Given the description of an element on the screen output the (x, y) to click on. 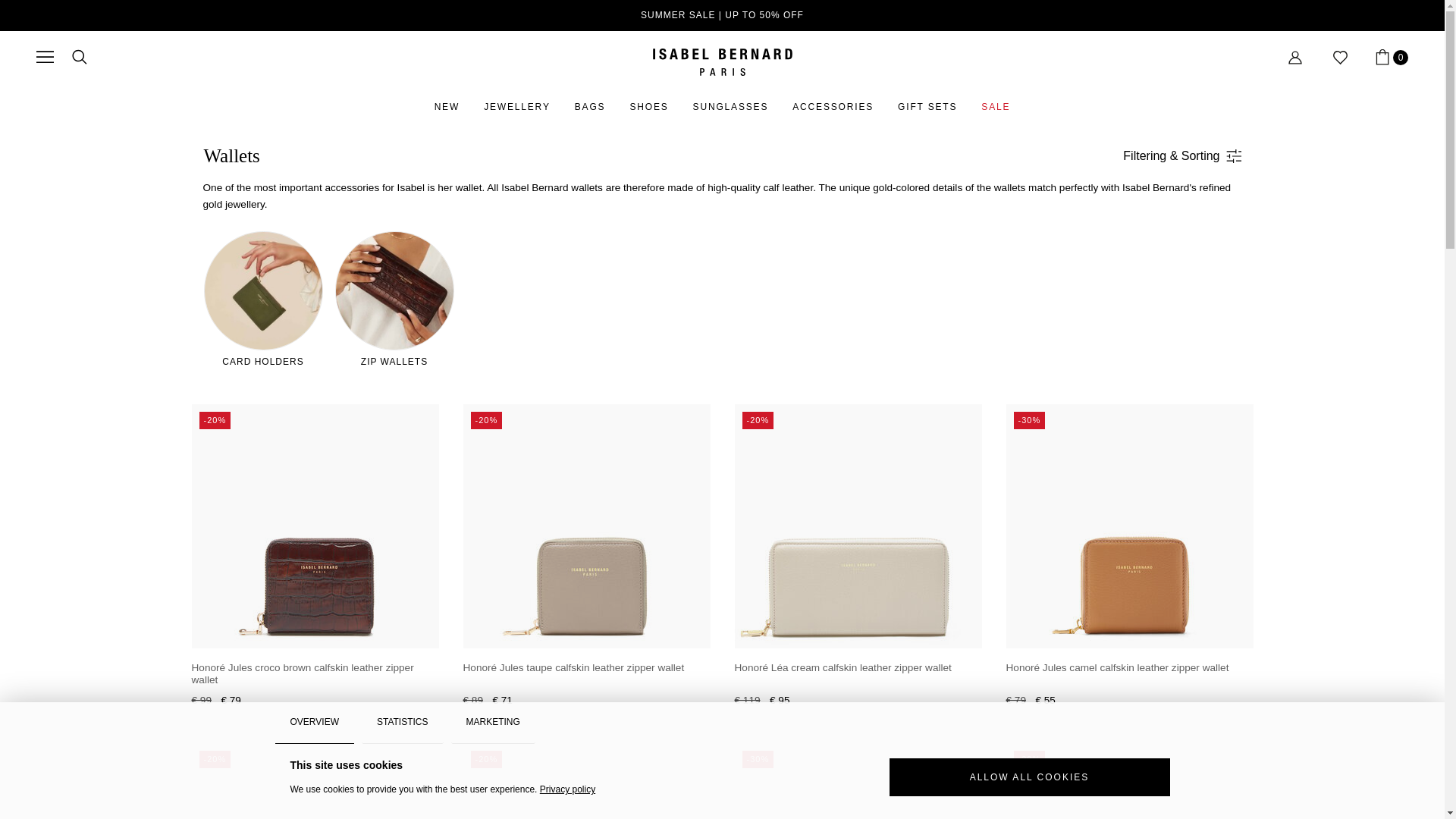
ALLOW ALL COOKIES (1028, 777)
My cart (1387, 61)
Privacy policy (1387, 61)
